Given the description of an element on the screen output the (x, y) to click on. 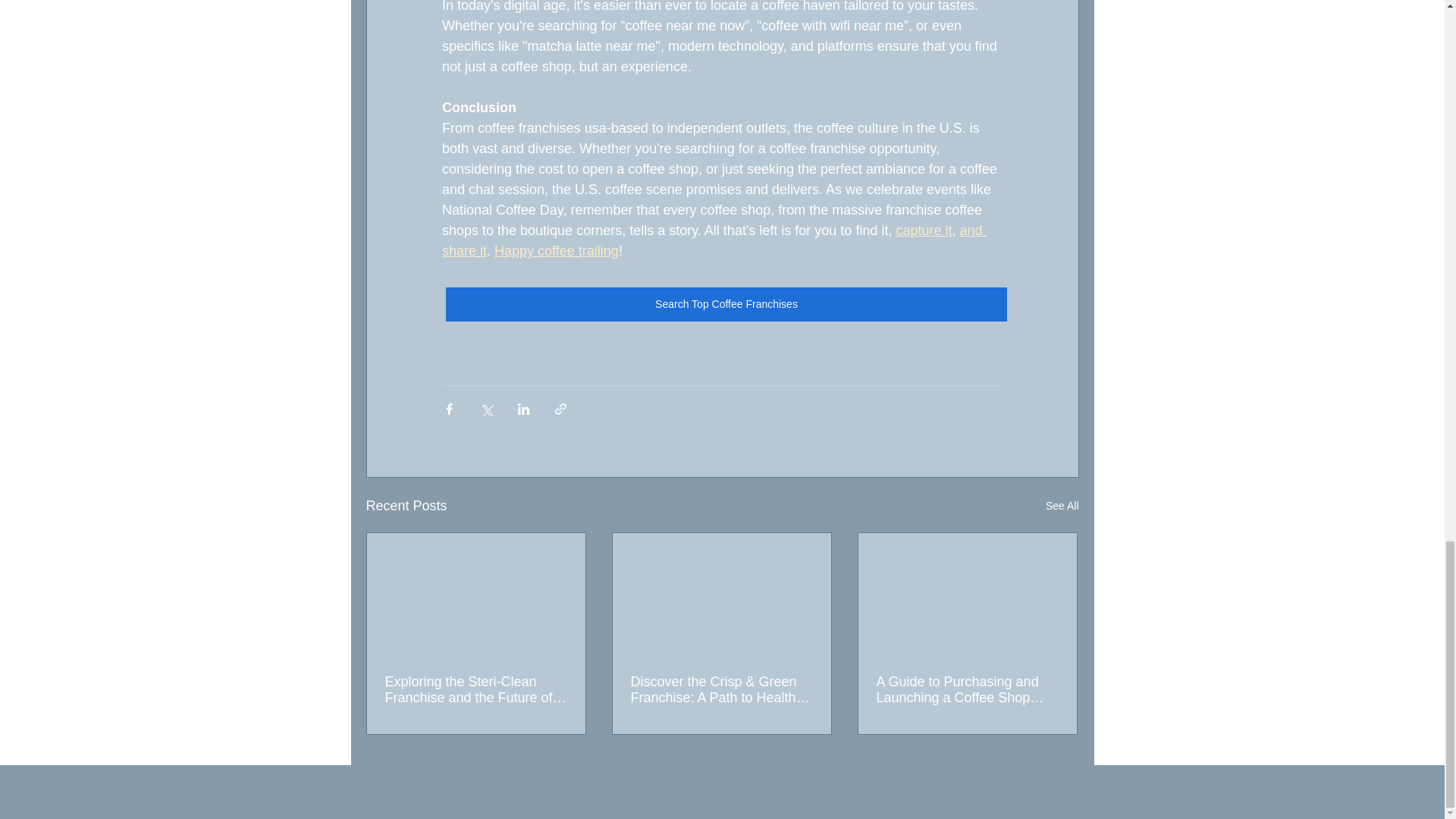
and (970, 230)
See All (1061, 505)
Happy (514, 250)
A Guide to Purchasing and Launching a Coffee Shop Franchise (967, 689)
capture (917, 230)
coffee (556, 250)
share (458, 250)
trailing (597, 250)
Search Top Coffee Franchises (726, 304)
